Given the description of an element on the screen output the (x, y) to click on. 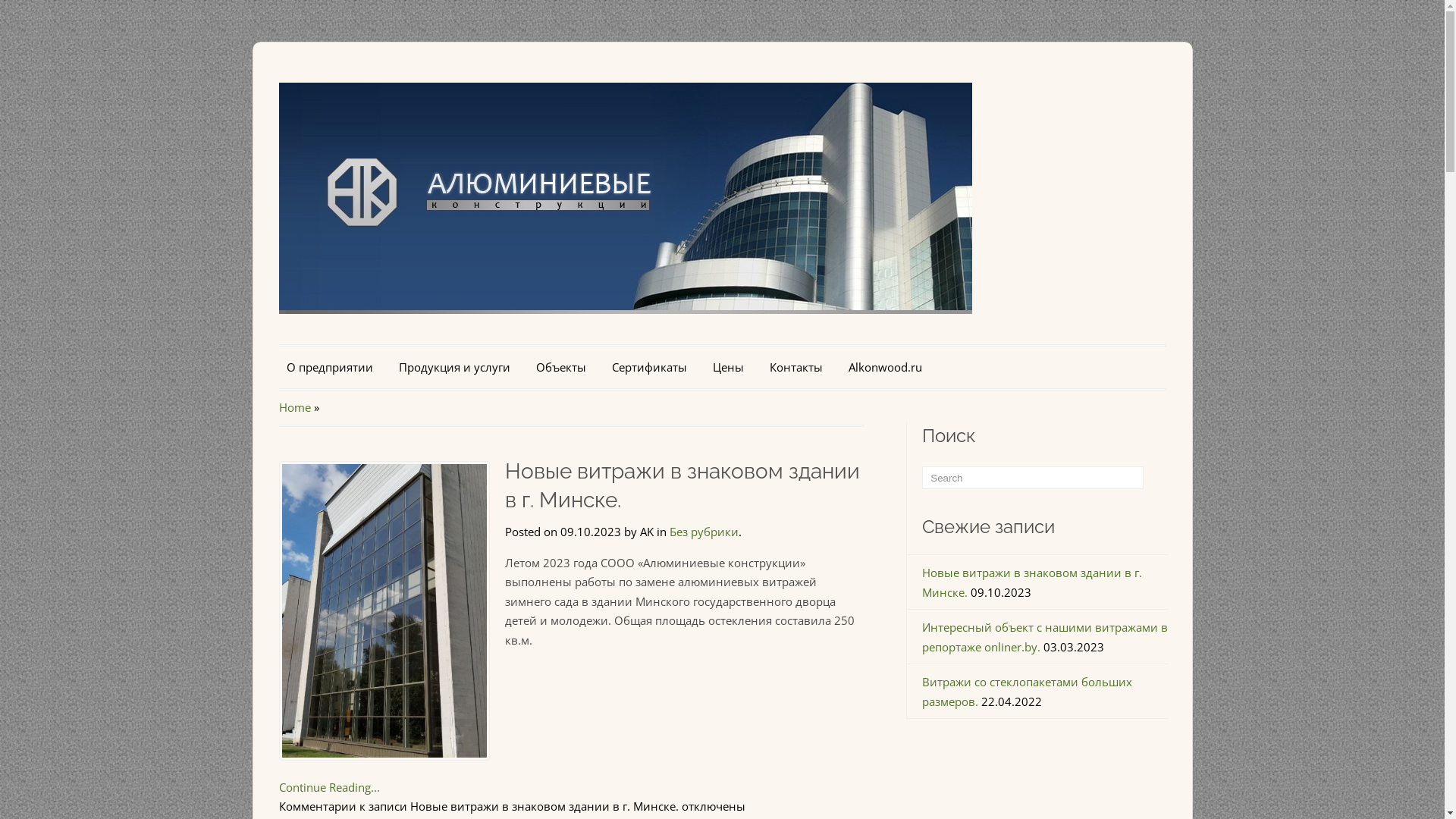
Search Element type: text (1152, 477)
Home Element type: text (294, 406)
Continue Reading... Element type: text (329, 786)
Alkonwood.ru Element type: text (884, 367)
